Given the description of an element on the screen output the (x, y) to click on. 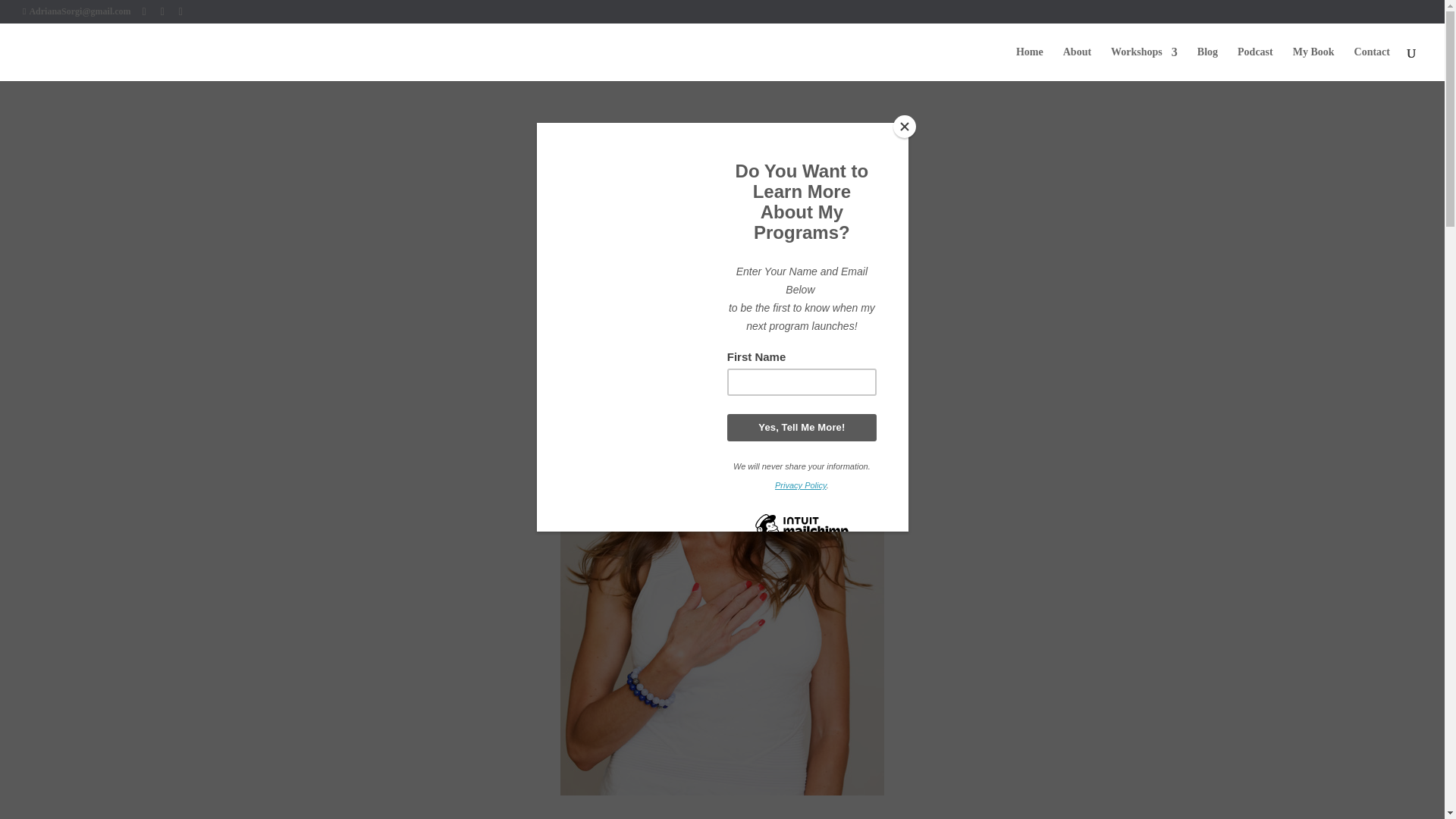
Contact (1372, 63)
Workshops (1143, 63)
My Book (1313, 63)
Podcast (1254, 63)
